Given the description of an element on the screen output the (x, y) to click on. 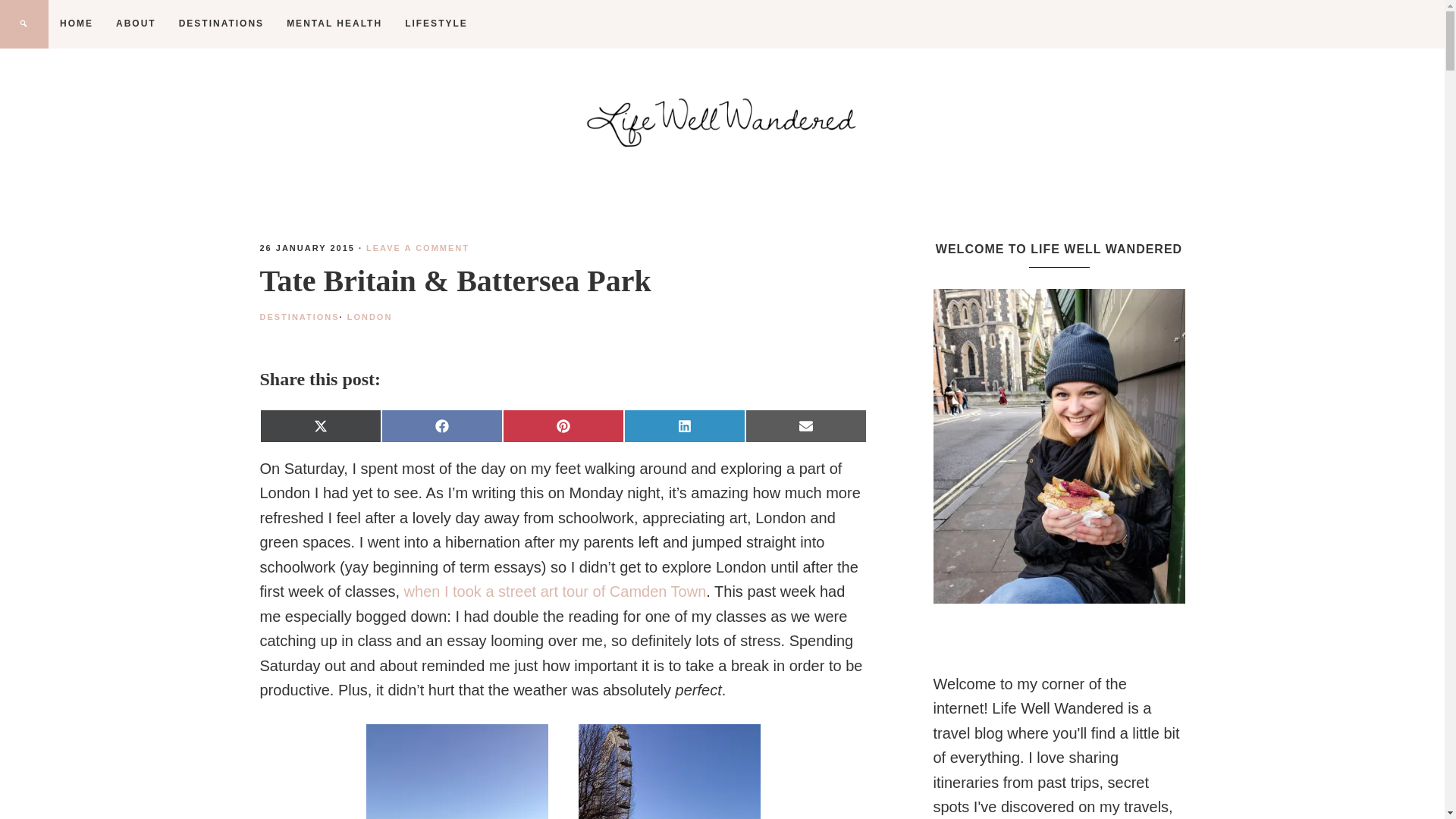
DESTINATIONS (221, 23)
MENTAL HEALTH (334, 23)
LEAVE A COMMENT (417, 247)
when I took a street art tour of Camden Town (555, 591)
DESTINATIONS (299, 316)
LONDON (370, 316)
ABOUT (135, 23)
HOME (76, 23)
LIFESTYLE (436, 23)
